Given the description of an element on the screen output the (x, y) to click on. 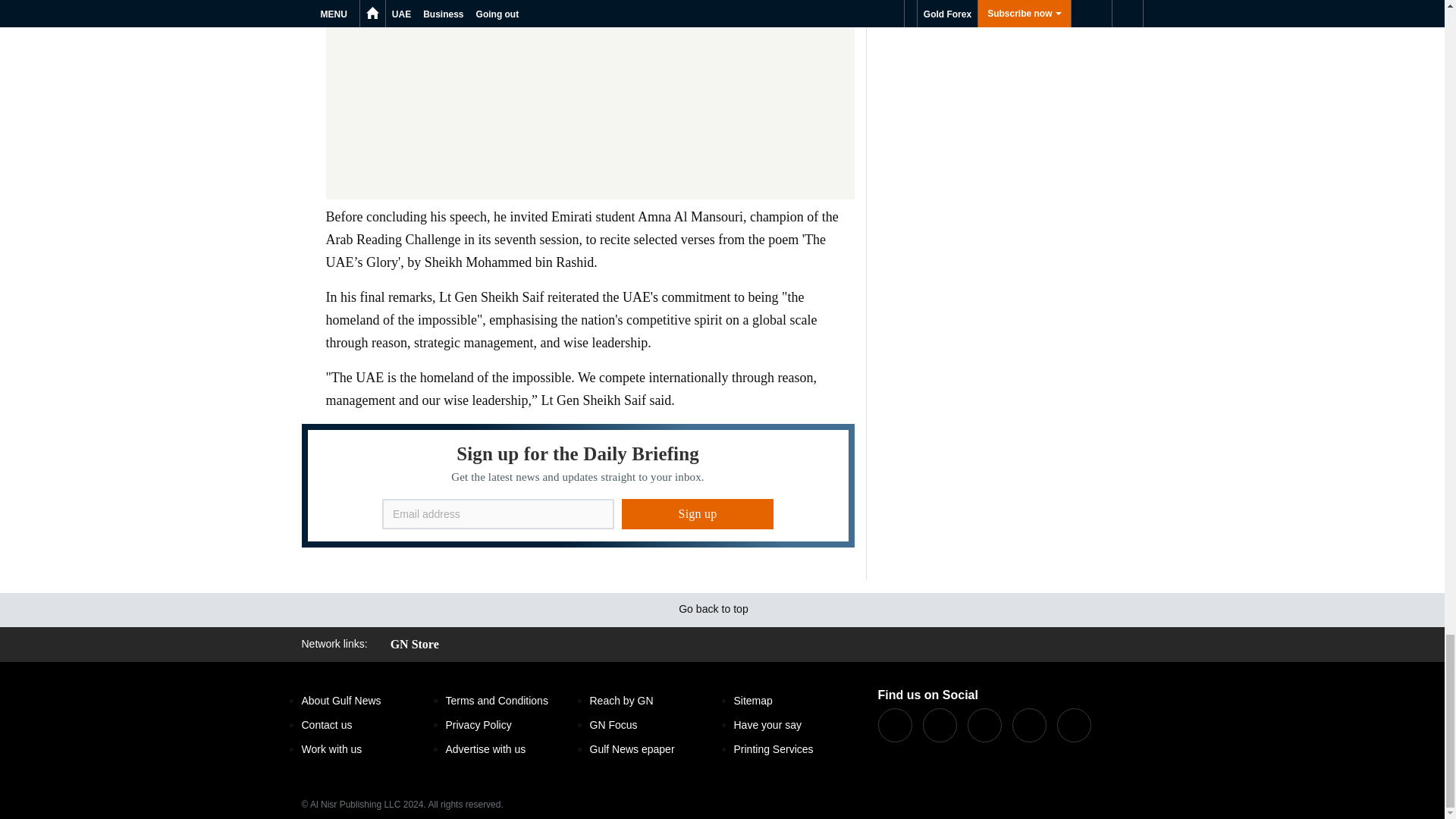
Sign up for the Daily Briefing (577, 485)
